Given the description of an element on the screen output the (x, y) to click on. 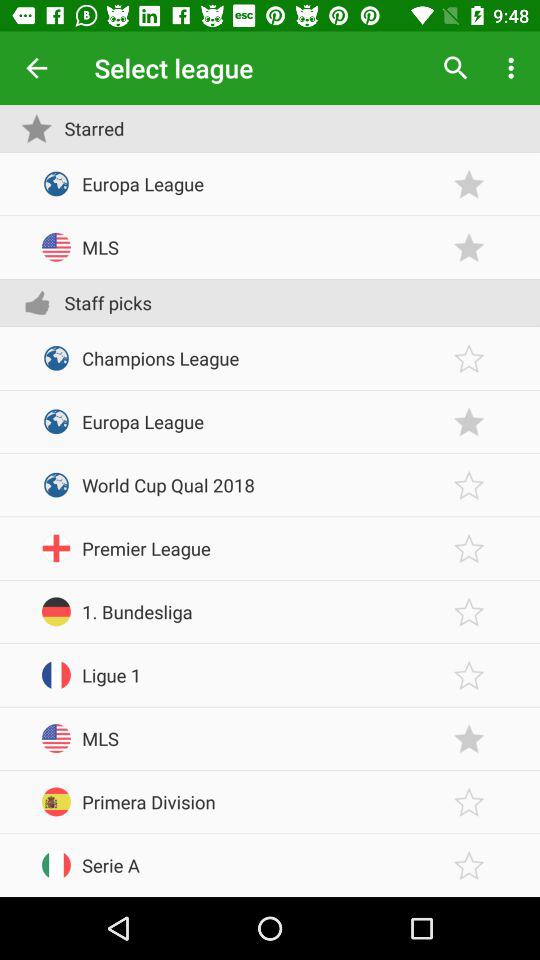
toggle starred status (469, 247)
